Given the description of an element on the screen output the (x, y) to click on. 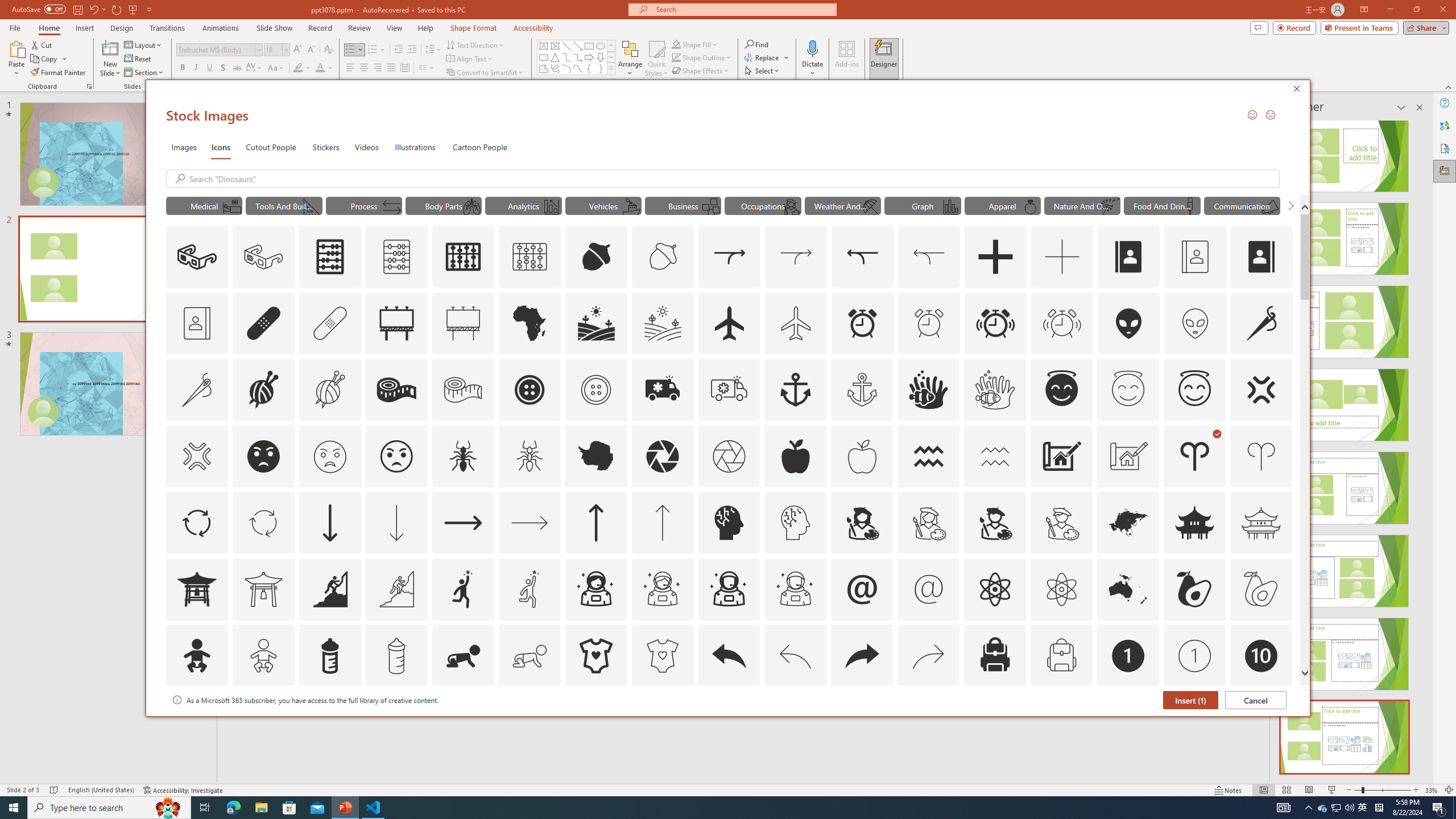
"Apparel" Icons. (1002, 205)
AutomationID: Icons_AlterationsTailoring3_M (595, 389)
"Occupations" Icons. (762, 205)
AutomationID: Icons_Aries_M (1260, 455)
AutomationID: Icons_ArrowDown_M (395, 522)
AutomationID: Icons_ArtistMale_M (1061, 522)
AutomationID: Icons_TriangleRuler_M (311, 206)
